Given the description of an element on the screen output the (x, y) to click on. 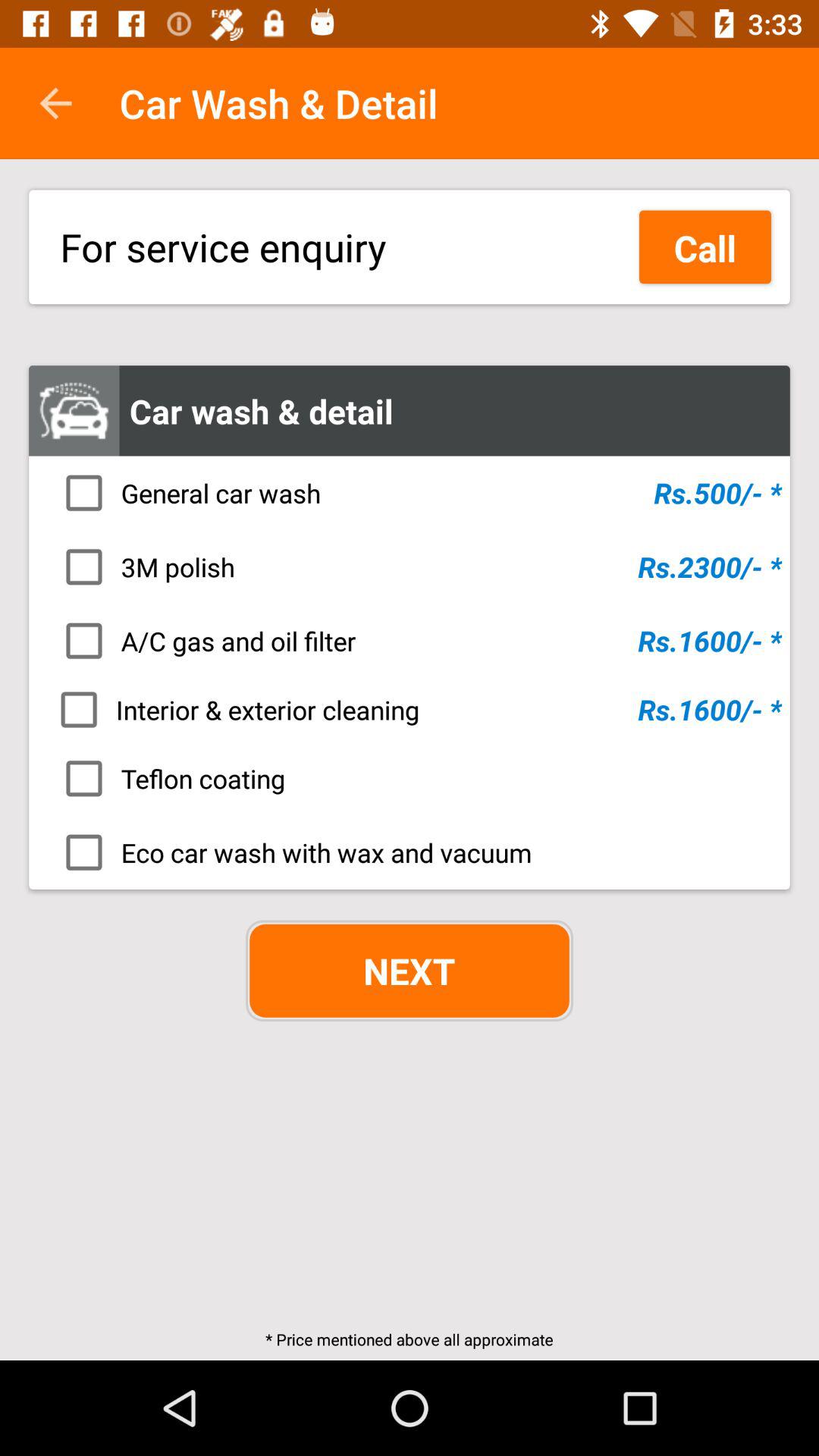
tap icon above eco car wash icon (414, 778)
